Given the description of an element on the screen output the (x, y) to click on. 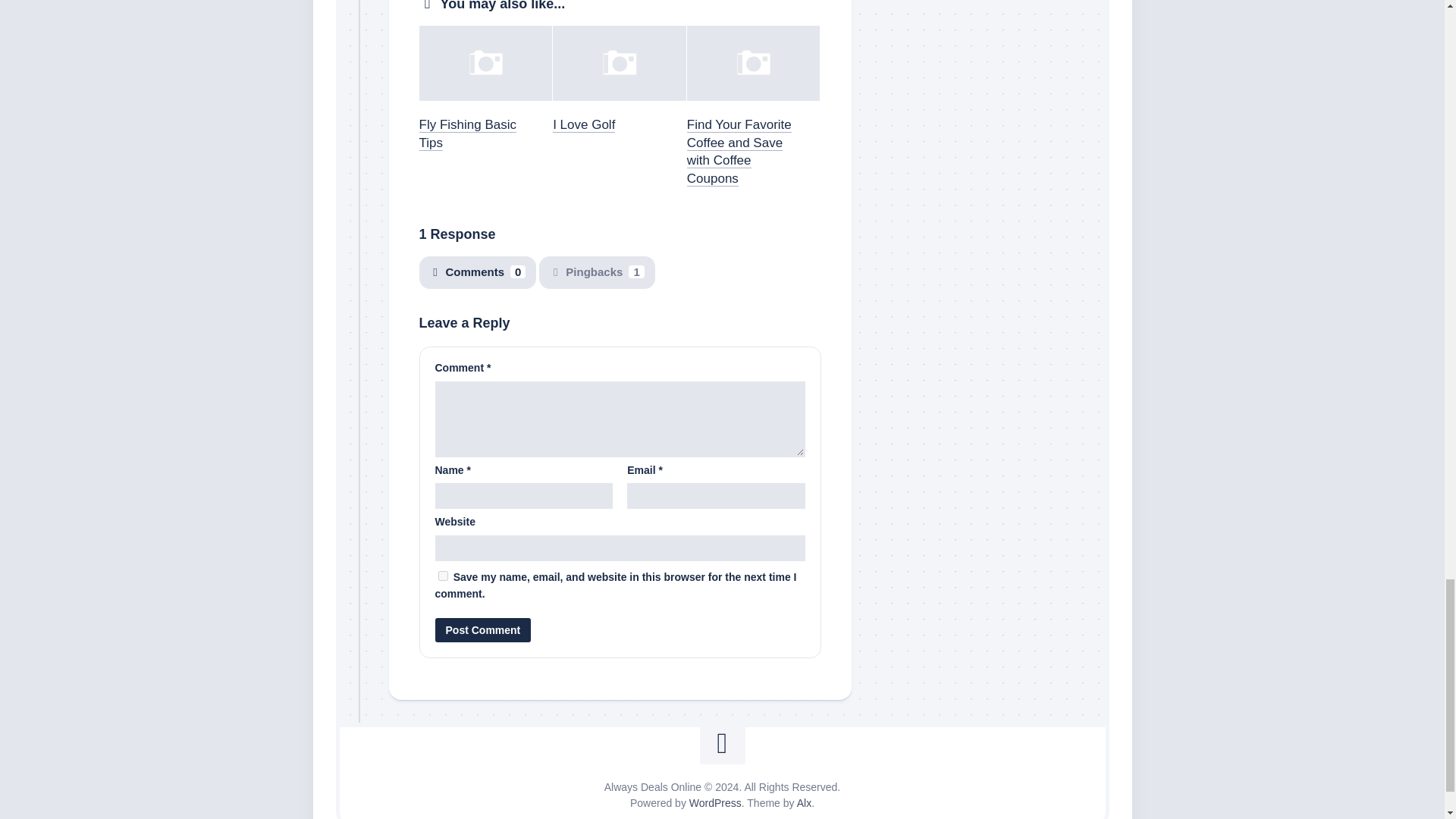
I Love Golf (583, 124)
Find Your Favorite Coffee and Save with Coffee Coupons (739, 151)
Fly Fishing Basic Tips (467, 133)
Post Comment (483, 630)
Comments0 (477, 272)
Pingbacks1 (595, 272)
Post Comment (483, 630)
yes (443, 575)
